Given the description of an element on the screen output the (x, y) to click on. 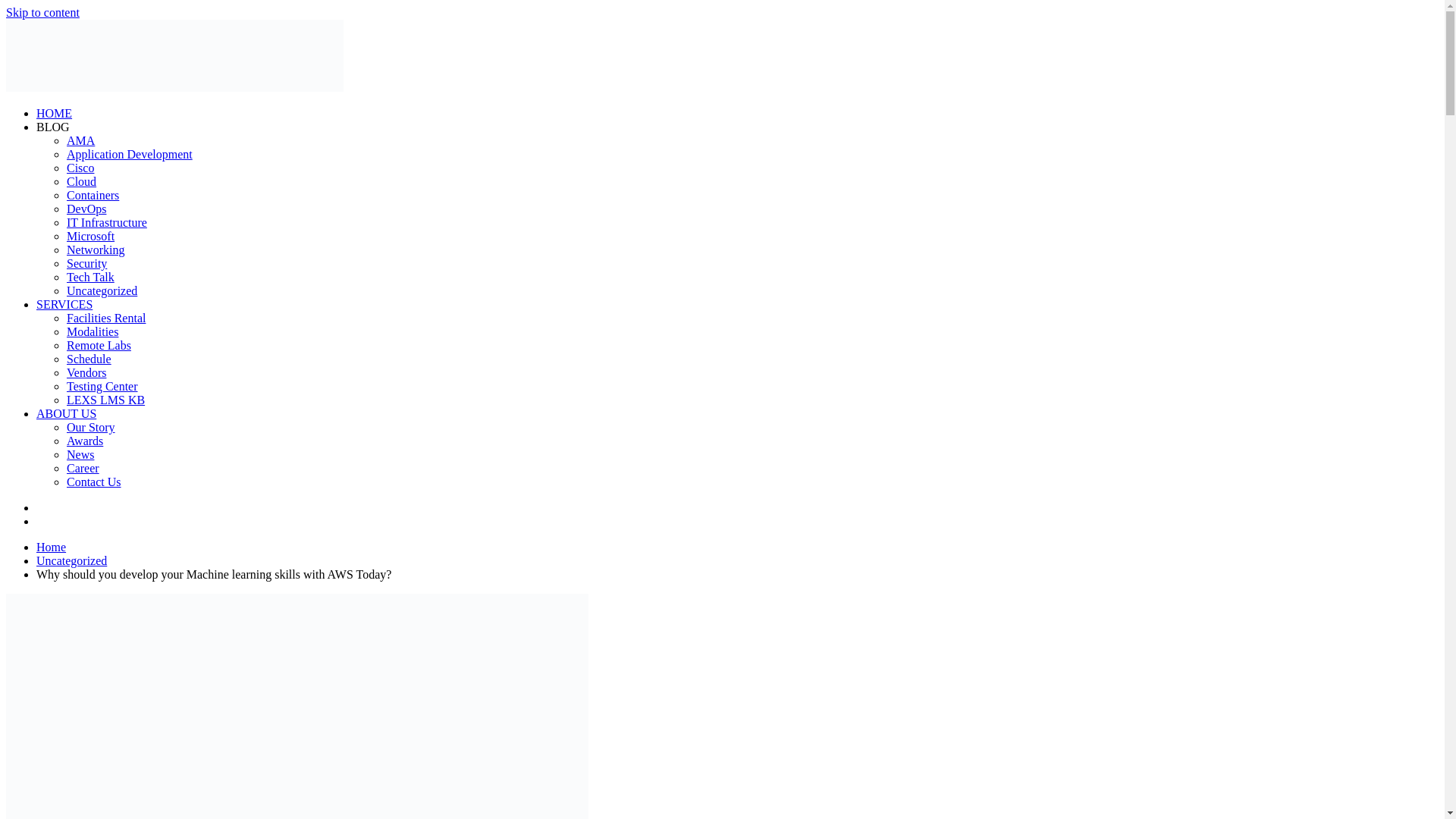
Modalities (91, 331)
BLOG (52, 126)
Networking (94, 249)
HOME (53, 113)
Contact Us (93, 481)
Skip to content (42, 11)
Cloud (81, 181)
SERVICES (64, 304)
IT Infrastructure (106, 222)
DevOps (86, 208)
